Given the description of an element on the screen output the (x, y) to click on. 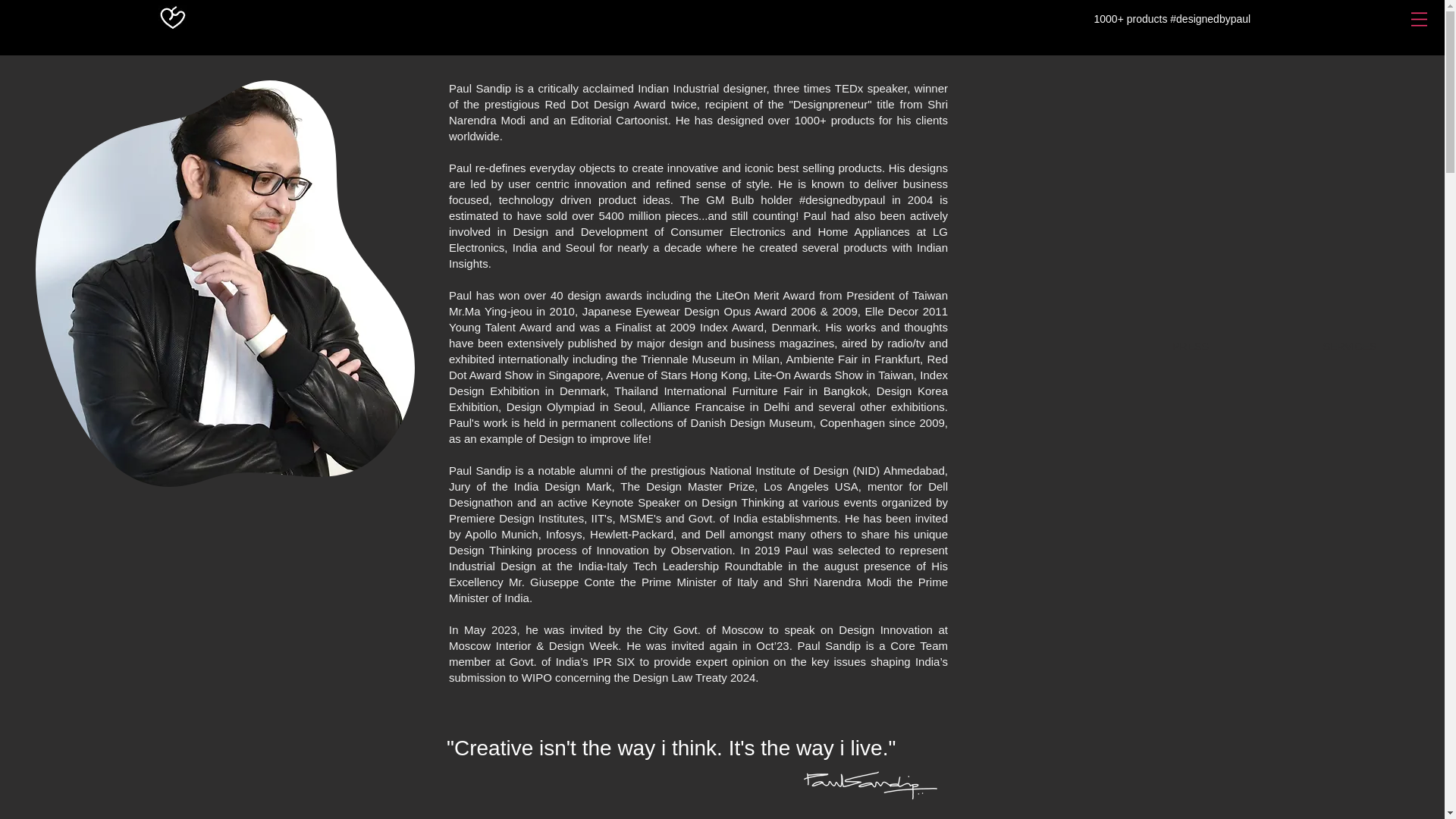
PRESS (1190, 347)
SERVICES (1349, 347)
